Given the description of an element on the screen output the (x, y) to click on. 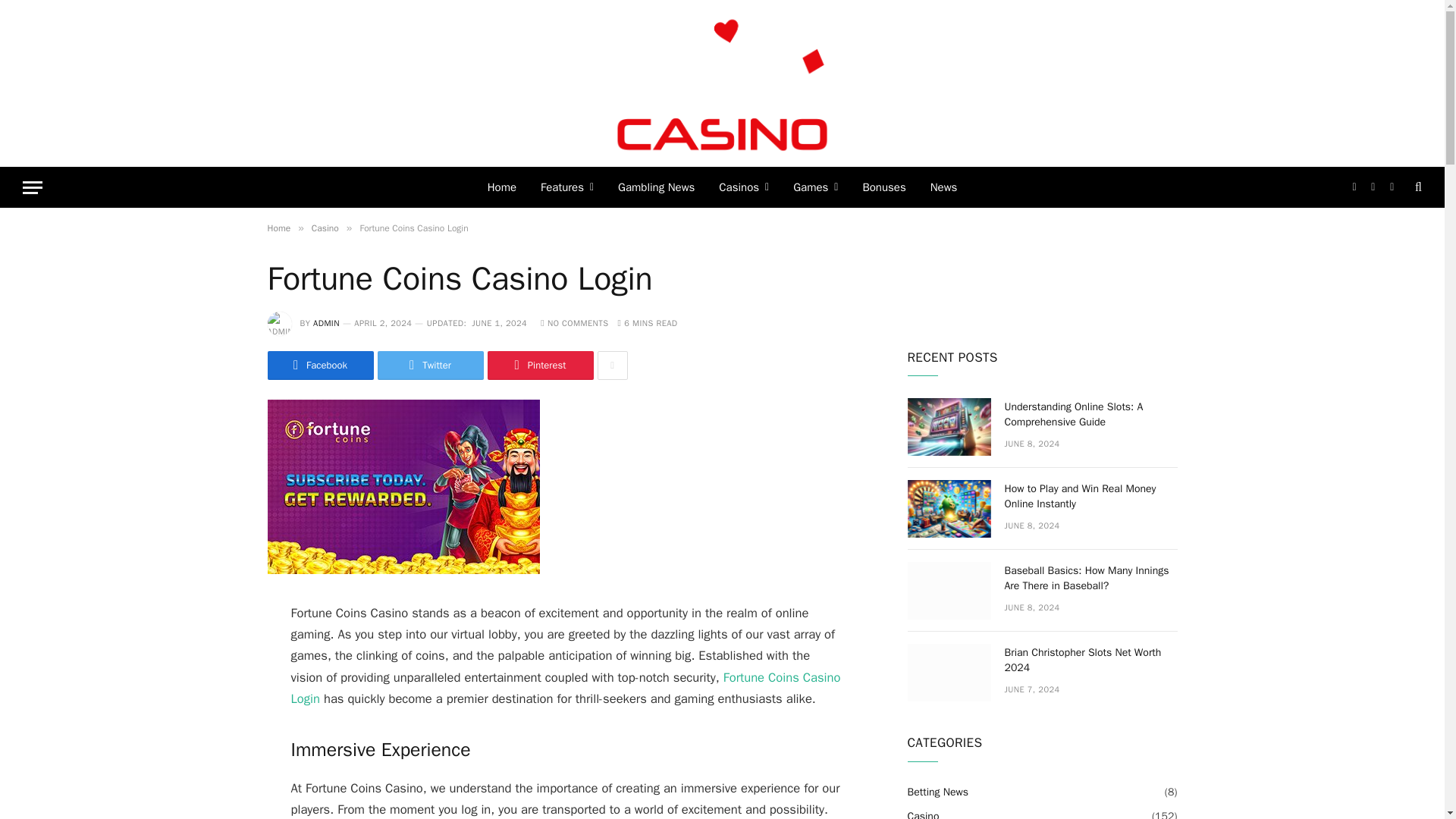
Most Famous Casino  (722, 83)
Home (502, 187)
Share on Pinterest (539, 365)
Share on Facebook (319, 365)
Features (566, 187)
Gambling News (655, 187)
Posts by admin (326, 322)
